Given the description of an element on the screen output the (x, y) to click on. 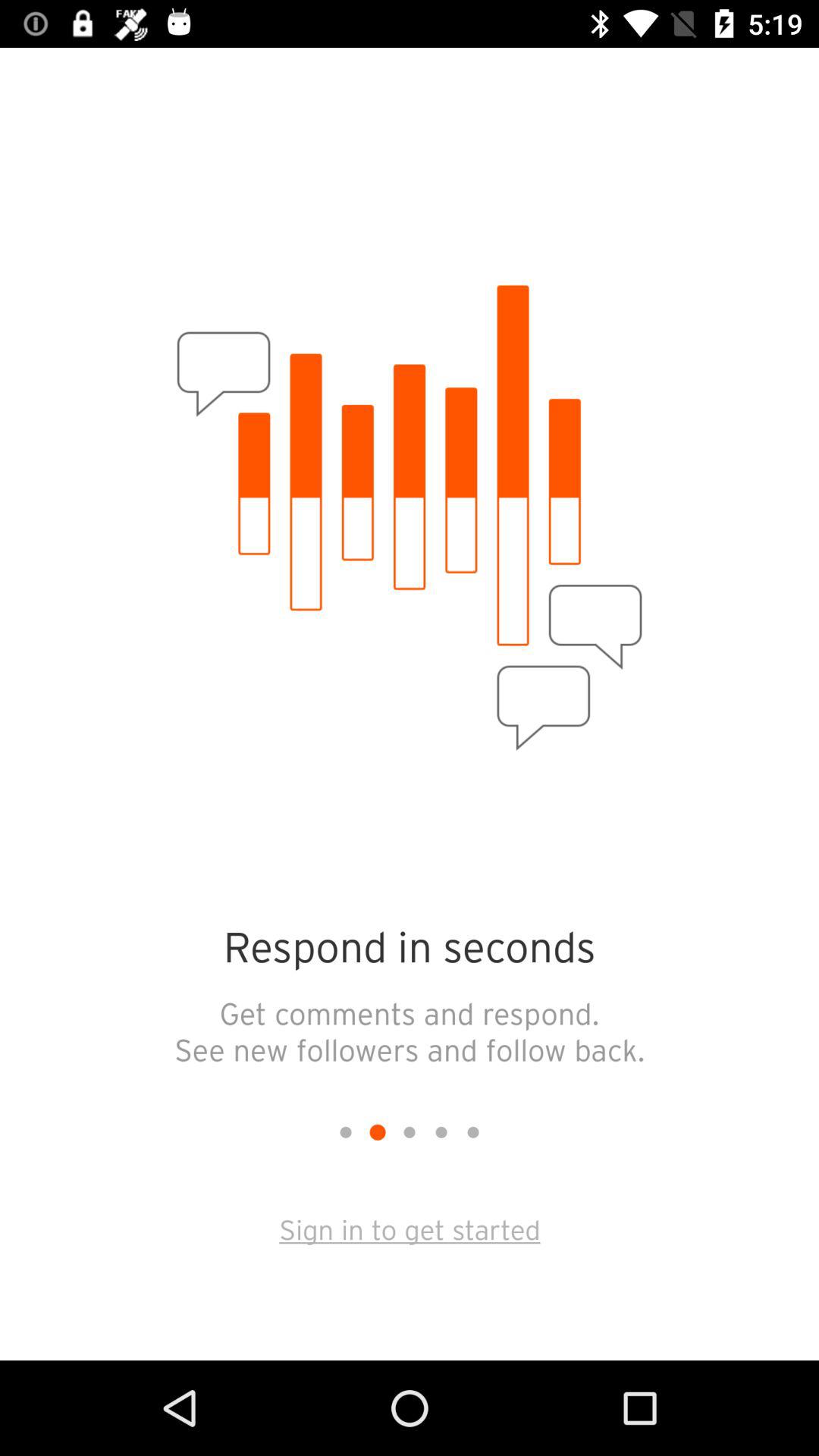
click sign in to item (409, 1228)
